Given the description of an element on the screen output the (x, y) to click on. 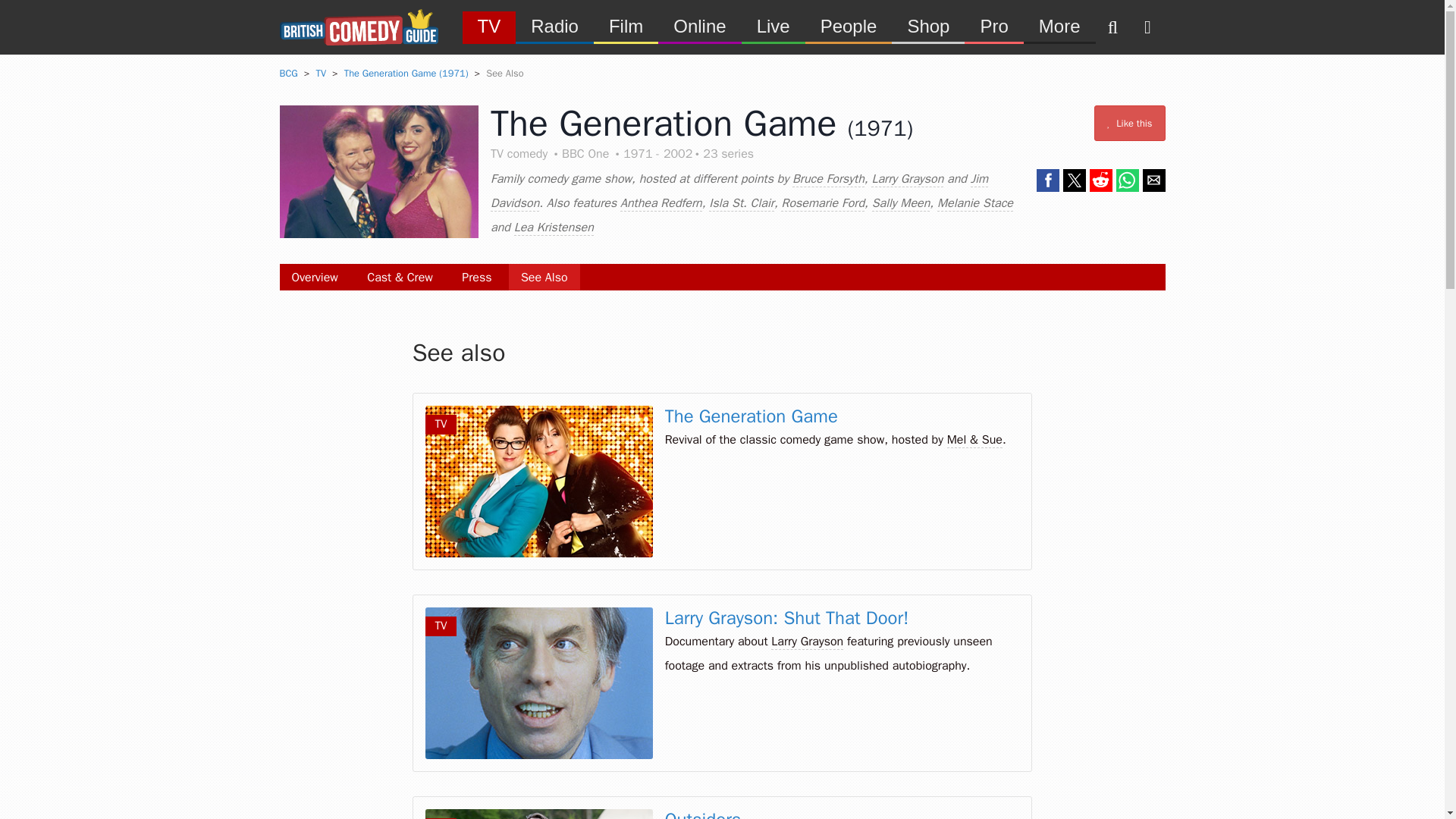
Larry Grayson (906, 179)
Larry Grayson: Shut That Door! (786, 617)
Isla St. Clair (741, 203)
People (848, 25)
Bruce Forsyth profile (828, 179)
Larry Grayson profile (906, 179)
Film (626, 25)
Radio (554, 25)
Like this (1130, 122)
